Given the description of an element on the screen output the (x, y) to click on. 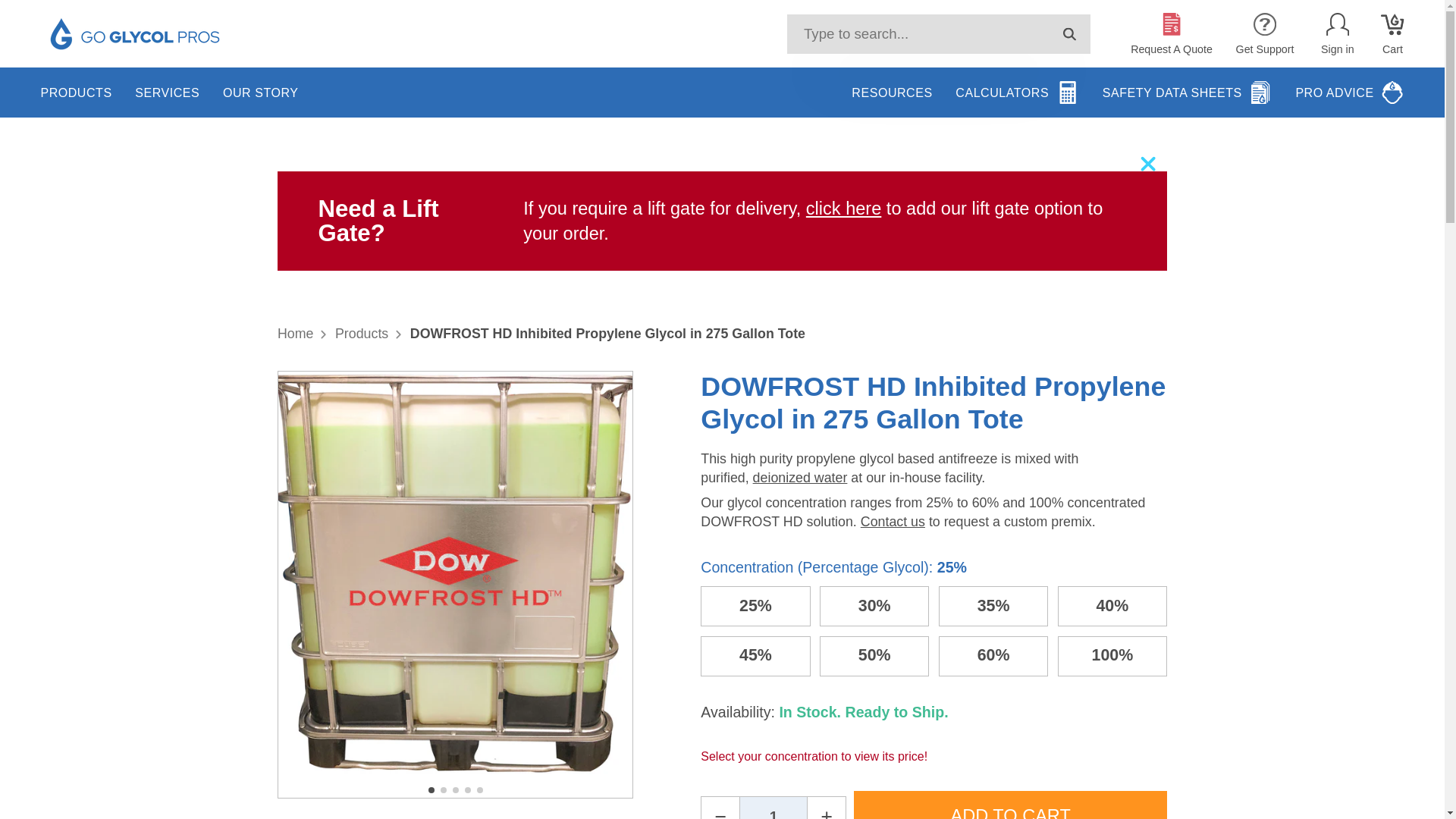
Use Deionized Water in HVAC Systems (799, 477)
SERVICES (167, 92)
Logo (135, 33)
CALCULATORS (1016, 92)
Request Lift Gate Delivery (843, 208)
1 (773, 807)
Request A Quote (1171, 33)
SAFETY DATA SHEETS (1187, 92)
OUR STORY (260, 92)
Contact Us for Custom Concentrations (892, 521)
RESOURCES (891, 92)
PRODUCTS (76, 92)
